Given the description of an element on the screen output the (x, y) to click on. 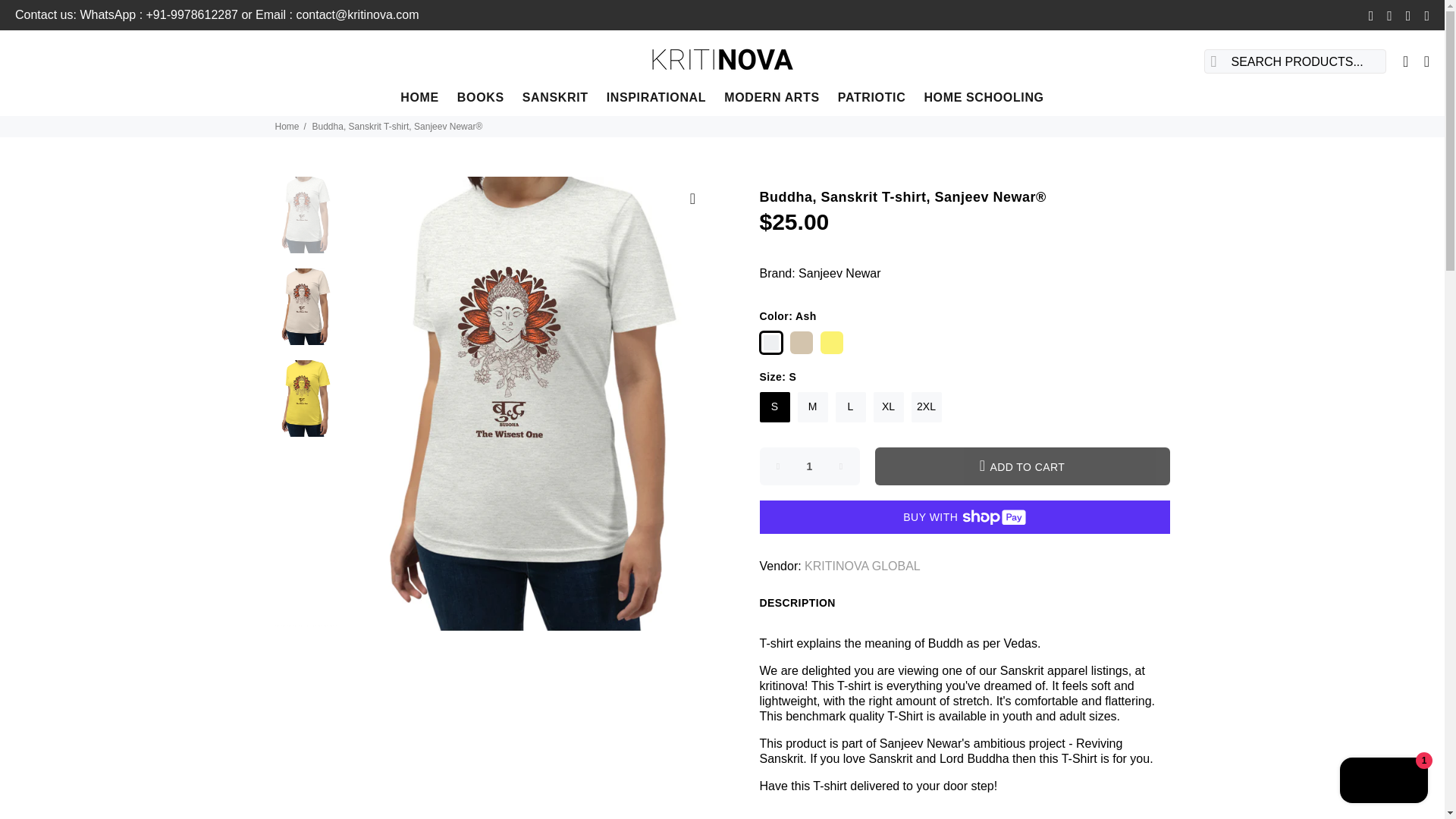
1 (810, 466)
Shopify online store chat (1383, 781)
